Given the description of an element on the screen output the (x, y) to click on. 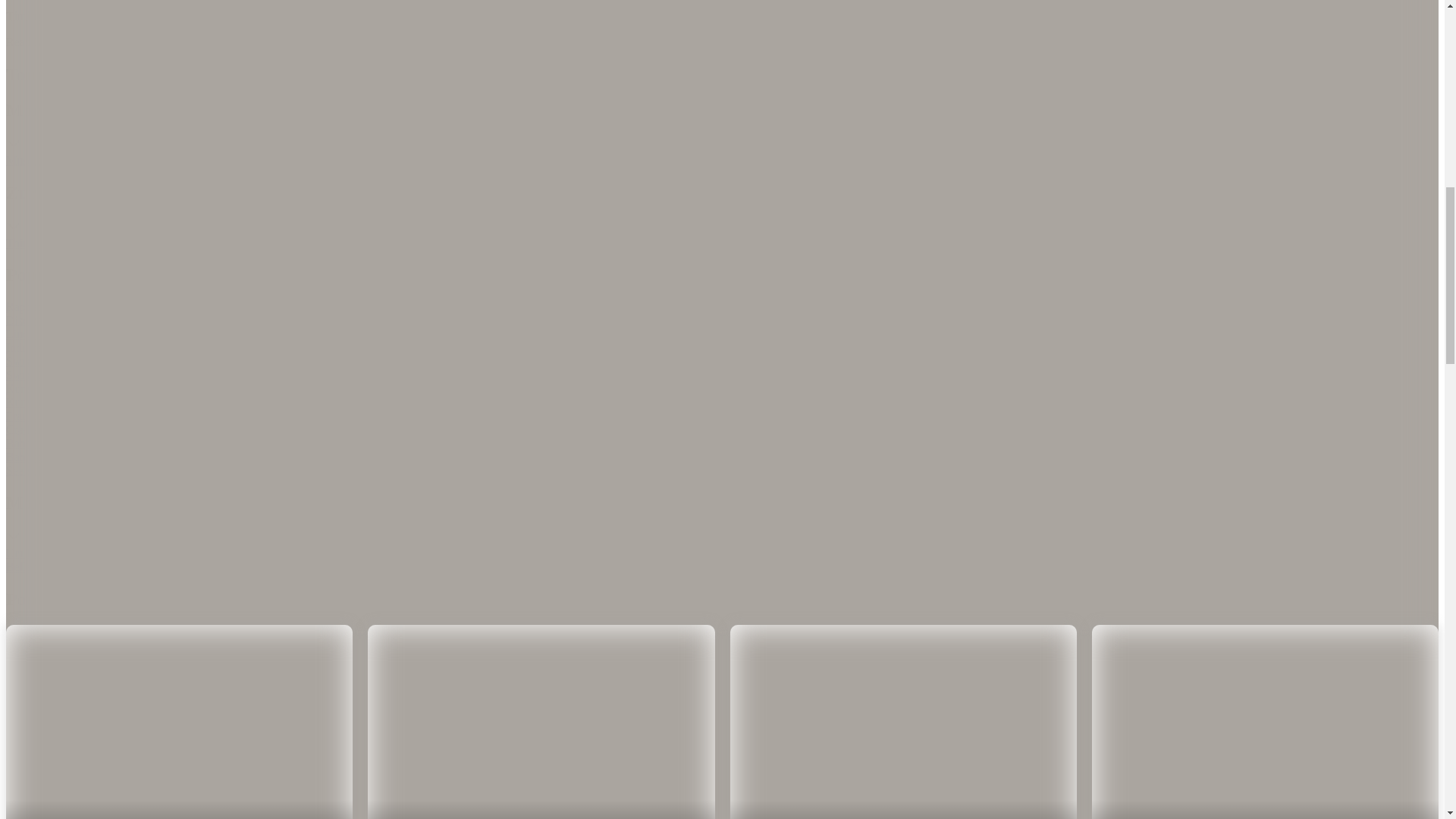
Museum Bellerive (709, 560)
Ubs Polybahn (973, 553)
Pavillon Le Corbusier (821, 553)
Museums in Zurich (52, 160)
Fifa World Football Museum (1141, 553)
Uetliberg (27, 553)
Hauptbahnhof (1247, 553)
Zurich Opera House (560, 553)
Best Deals in Zurich (367, 160)
St. Peter's Church (306, 553)
Places to Visit in Zurich (282, 242)
Zurich Tour Packages (170, 242)
Urania Sternwarte (1326, 553)
Lindenhof Hill (386, 553)
Honeymoon in Zurich (263, 160)
